Given the description of an element on the screen output the (x, y) to click on. 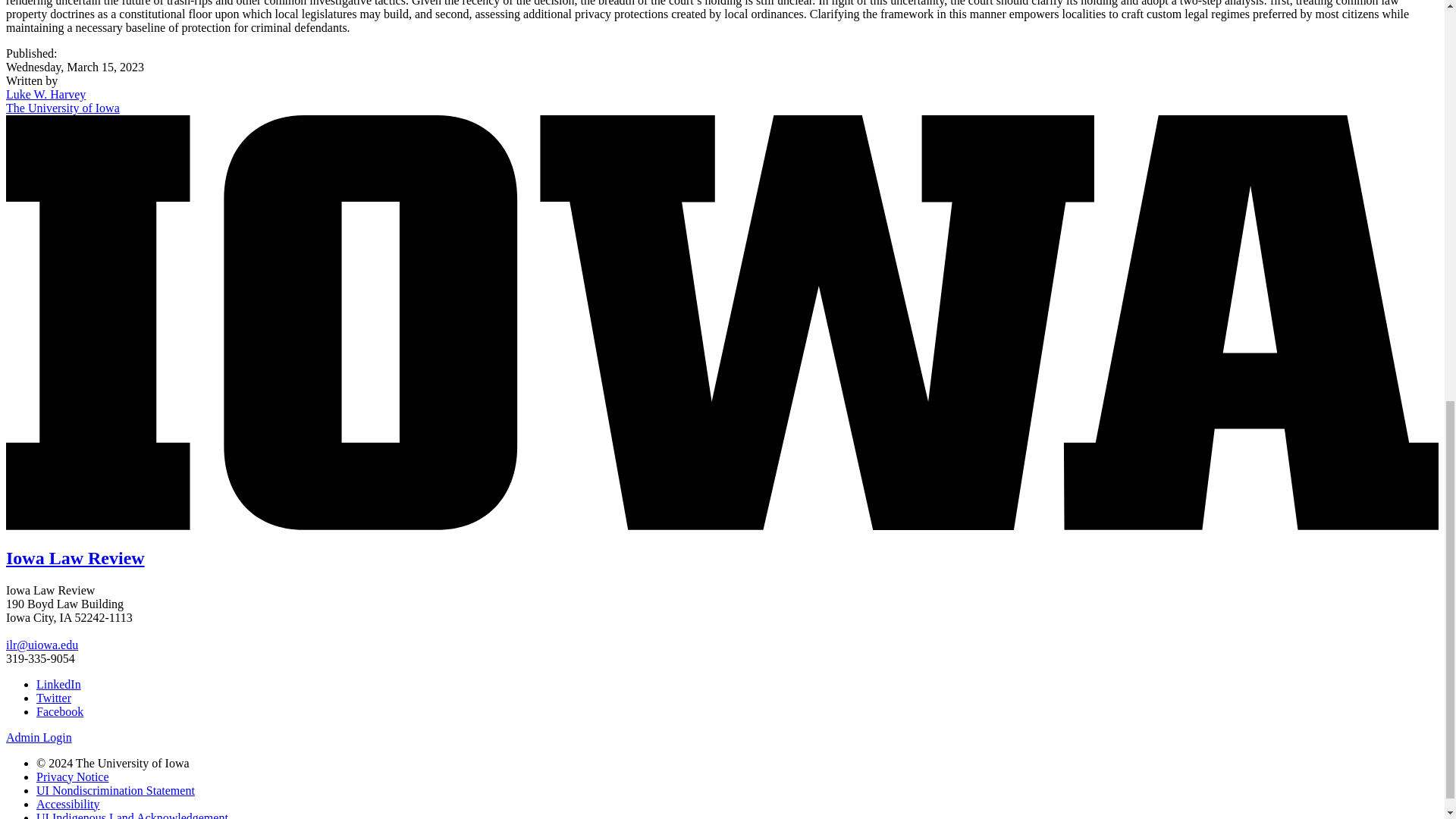
Admin Login (38, 737)
Luke W. Harvey (45, 93)
Accessibility (68, 803)
LinkedIn (58, 684)
Facebook (59, 711)
Privacy Notice (72, 776)
UI Nondiscrimination Statement (115, 789)
Twitter (53, 697)
